Given the description of an element on the screen output the (x, y) to click on. 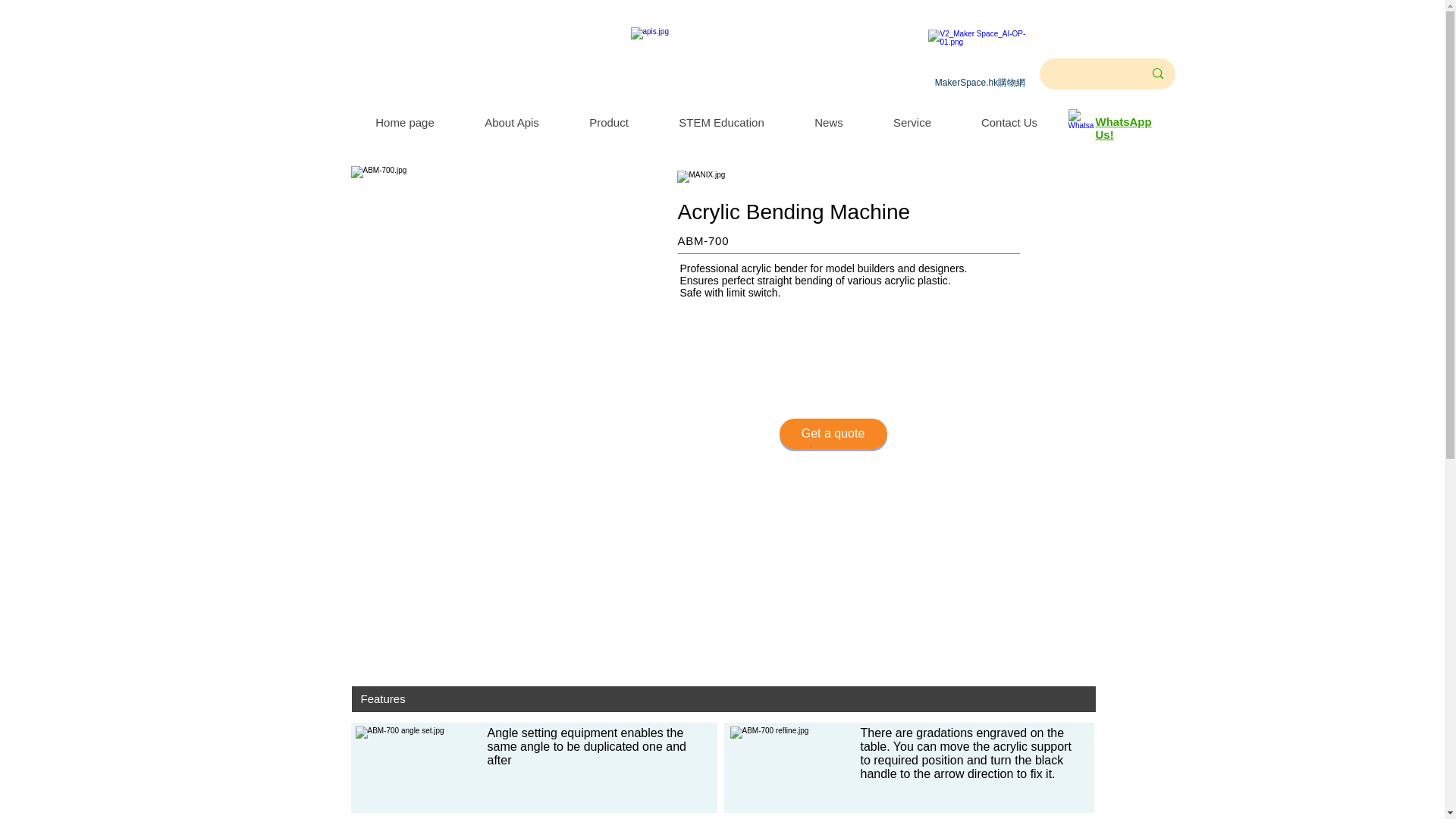
Home page (404, 122)
About Apis (512, 122)
Service (911, 122)
WhatsApp Us! (1122, 127)
Contact Us (1008, 122)
Product (608, 122)
News (828, 122)
STEM Education (721, 122)
Get a quote (832, 433)
